Given the description of an element on the screen output the (x, y) to click on. 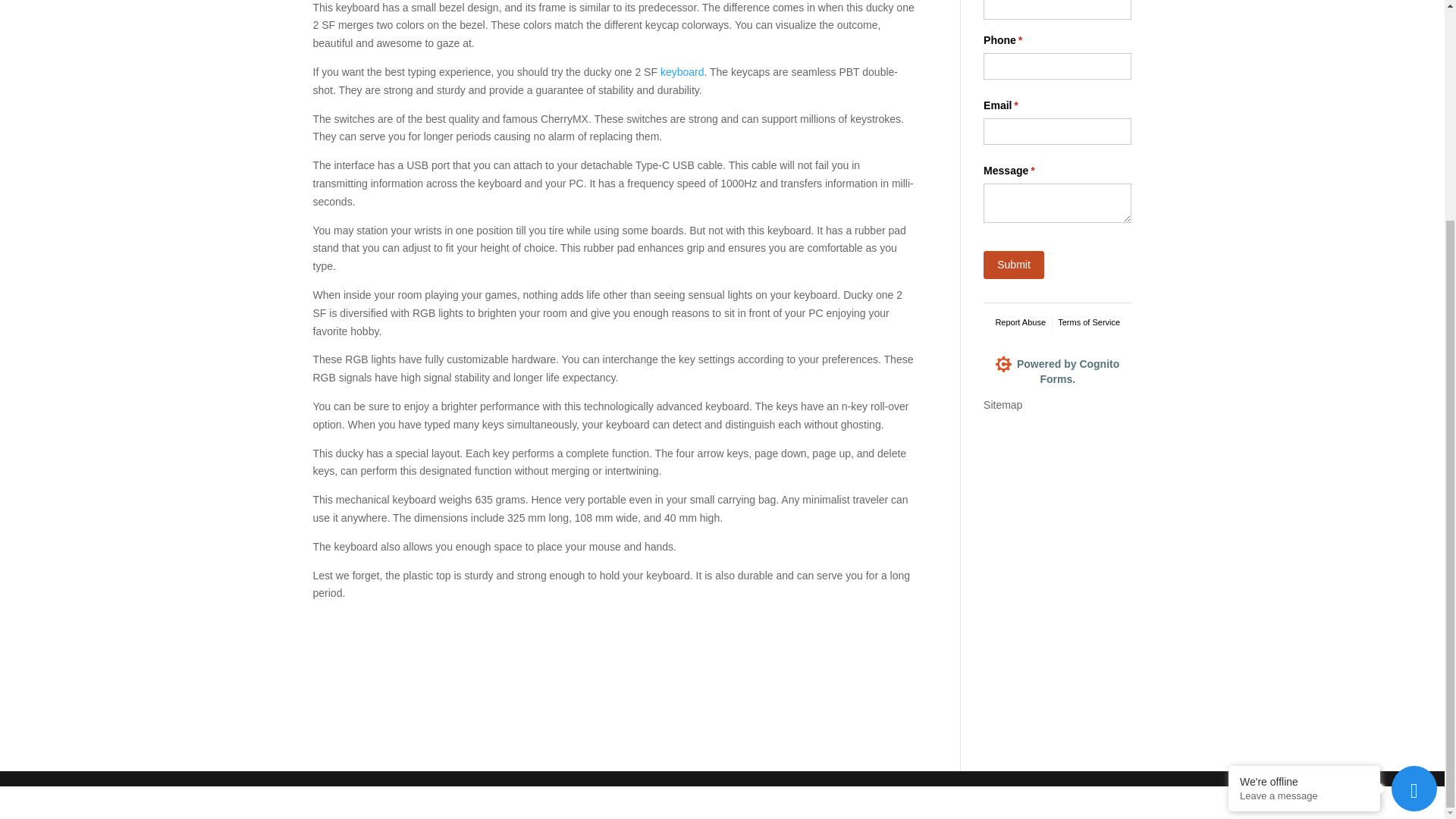
Sitemap (1003, 404)
Terms of Service (1088, 323)
keyboard (682, 71)
Leave a message (1304, 502)
Report Abuse (1019, 323)
We're offline (1304, 489)
Powered by Cognito Forms. (1057, 378)
Submit (1013, 264)
